Given the description of an element on the screen output the (x, y) to click on. 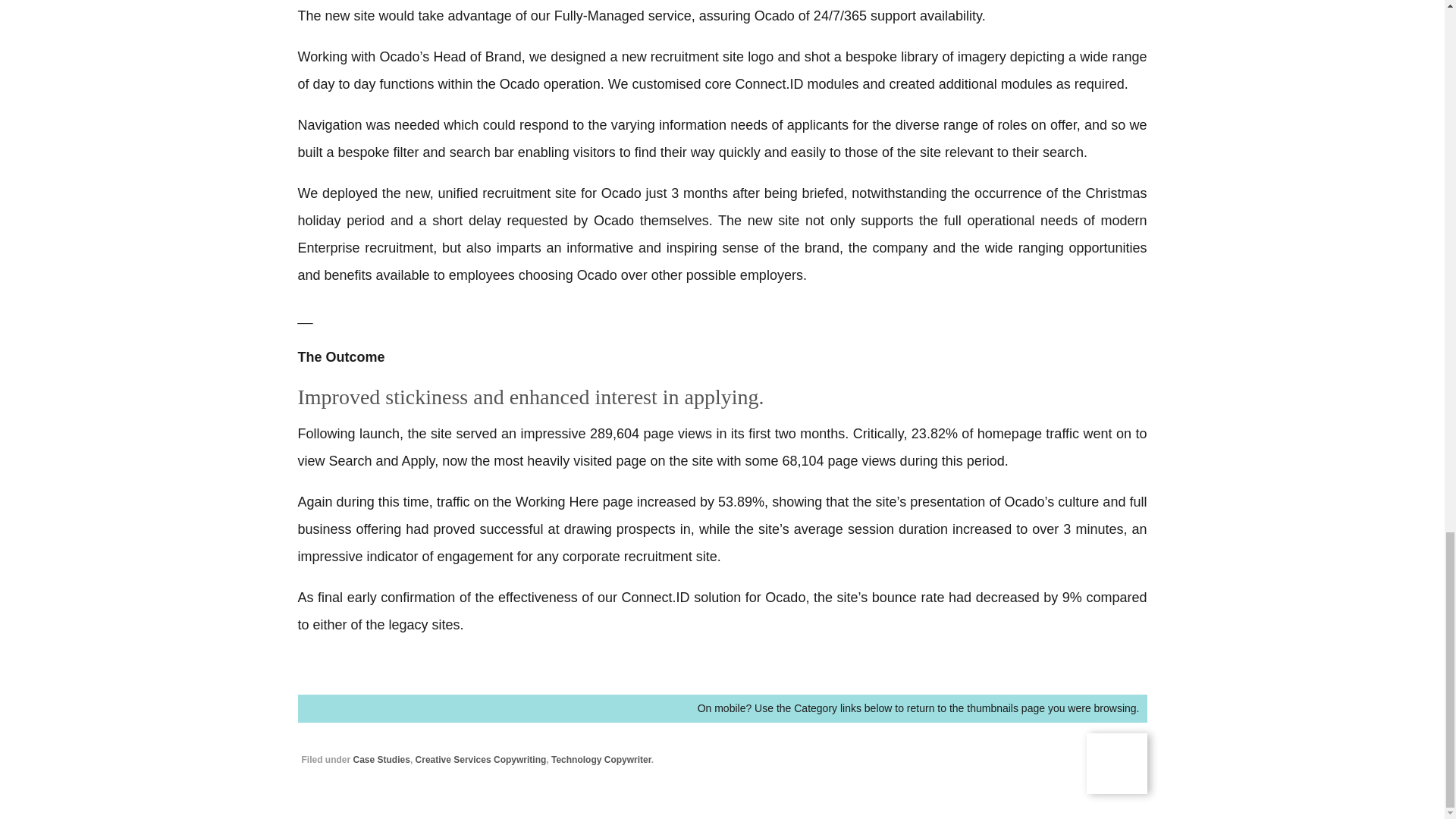
Creative Services Copywriting (480, 759)
Technology Copywriter (600, 759)
Case Studies (381, 759)
